Given the description of an element on the screen output the (x, y) to click on. 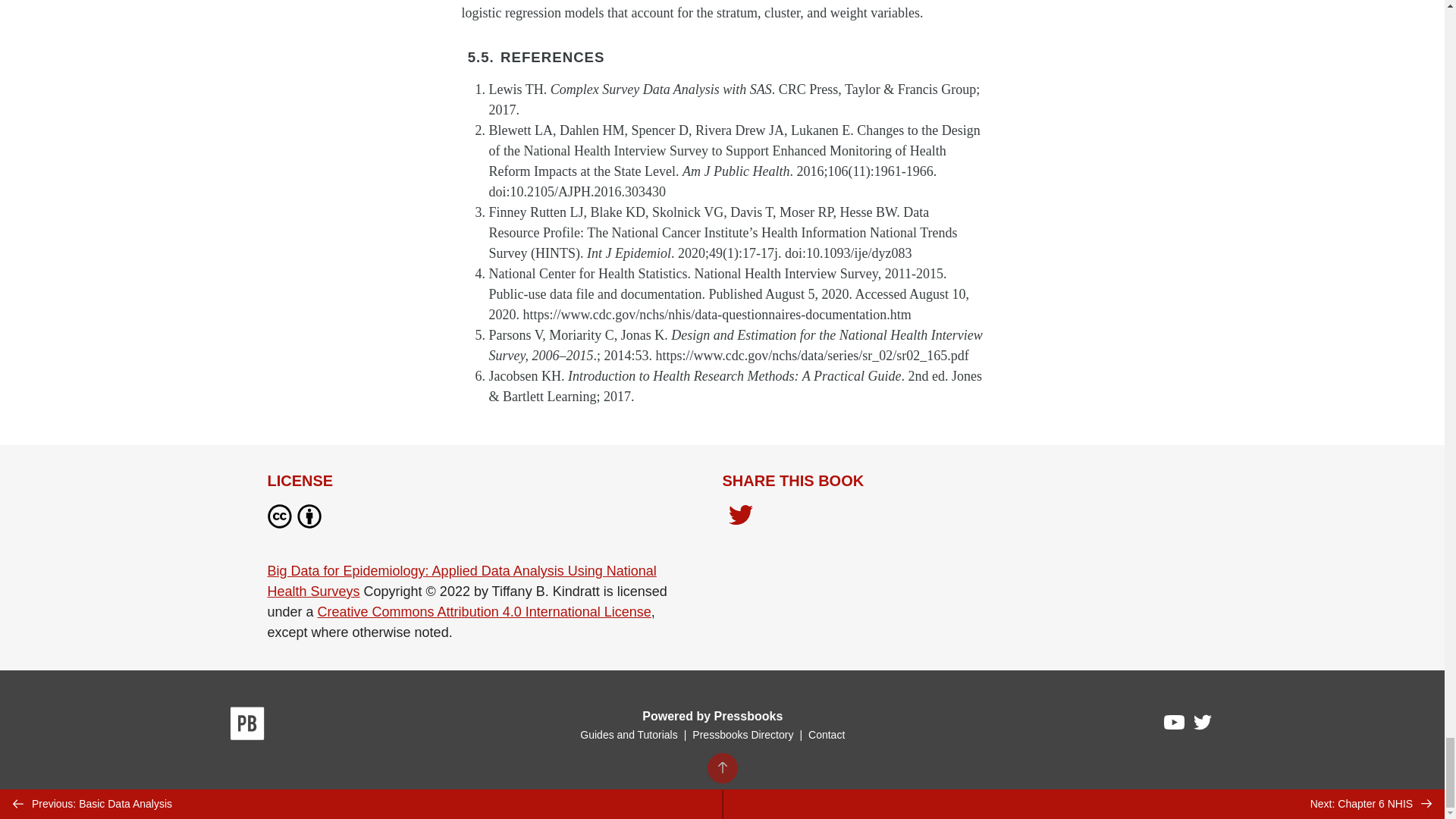
Share on Twitter (740, 516)
Pressbooks on YouTube (1174, 725)
Powered by Pressbooks (712, 716)
Contact (826, 734)
Share on Twitter (740, 518)
Creative Commons Attribution 4.0 International License (483, 611)
Guides and Tutorials (627, 734)
Pressbooks Directory (742, 734)
